Given the description of an element on the screen output the (x, y) to click on. 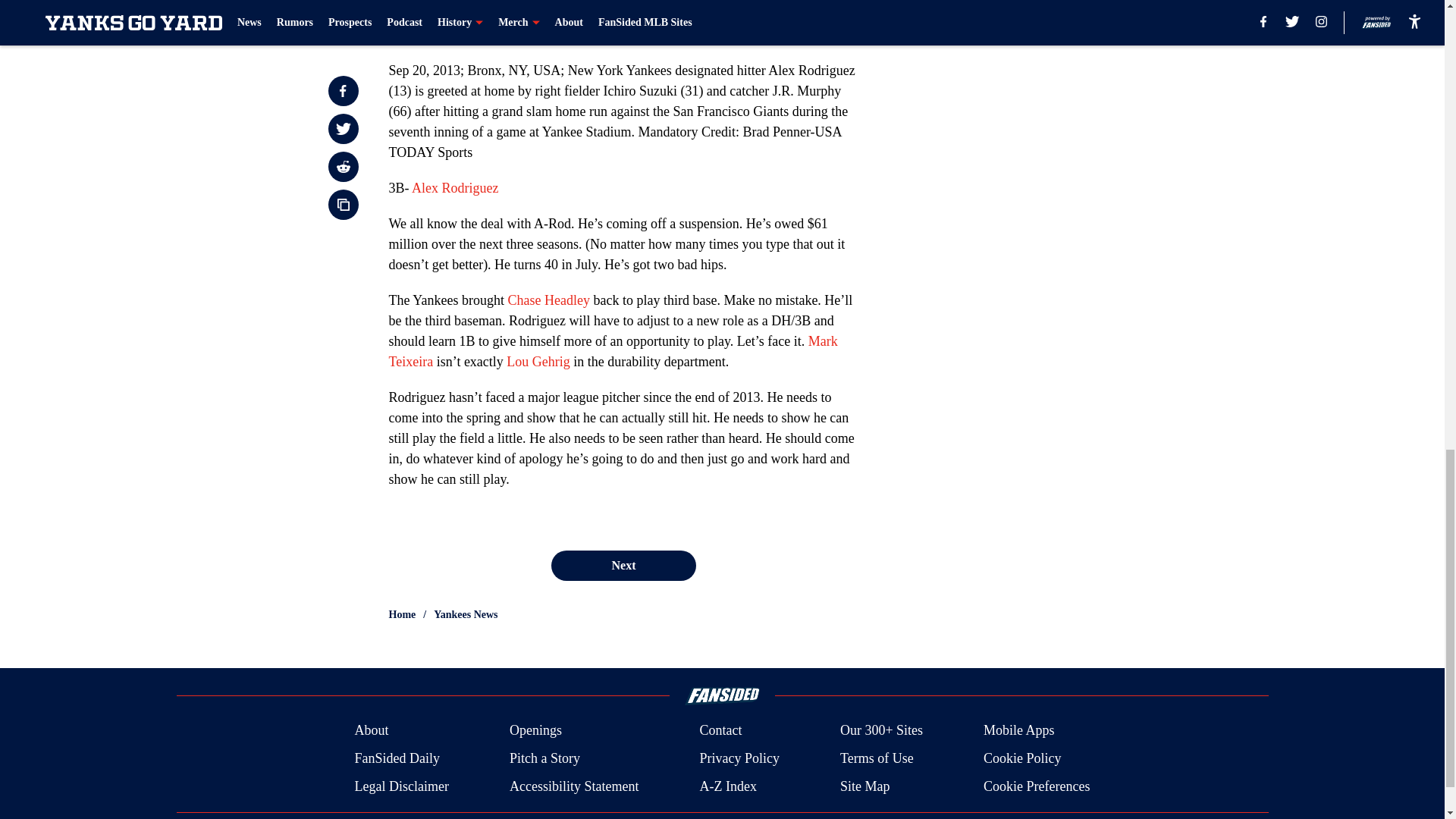
Contact (719, 730)
Lou Gehrig (537, 361)
Mark Teixeira (612, 351)
About (370, 730)
Yankees News (465, 614)
Home (401, 614)
Openings (535, 730)
Next (622, 565)
Chase Headley (547, 299)
Alex Rodriguez (454, 187)
